Given the description of an element on the screen output the (x, y) to click on. 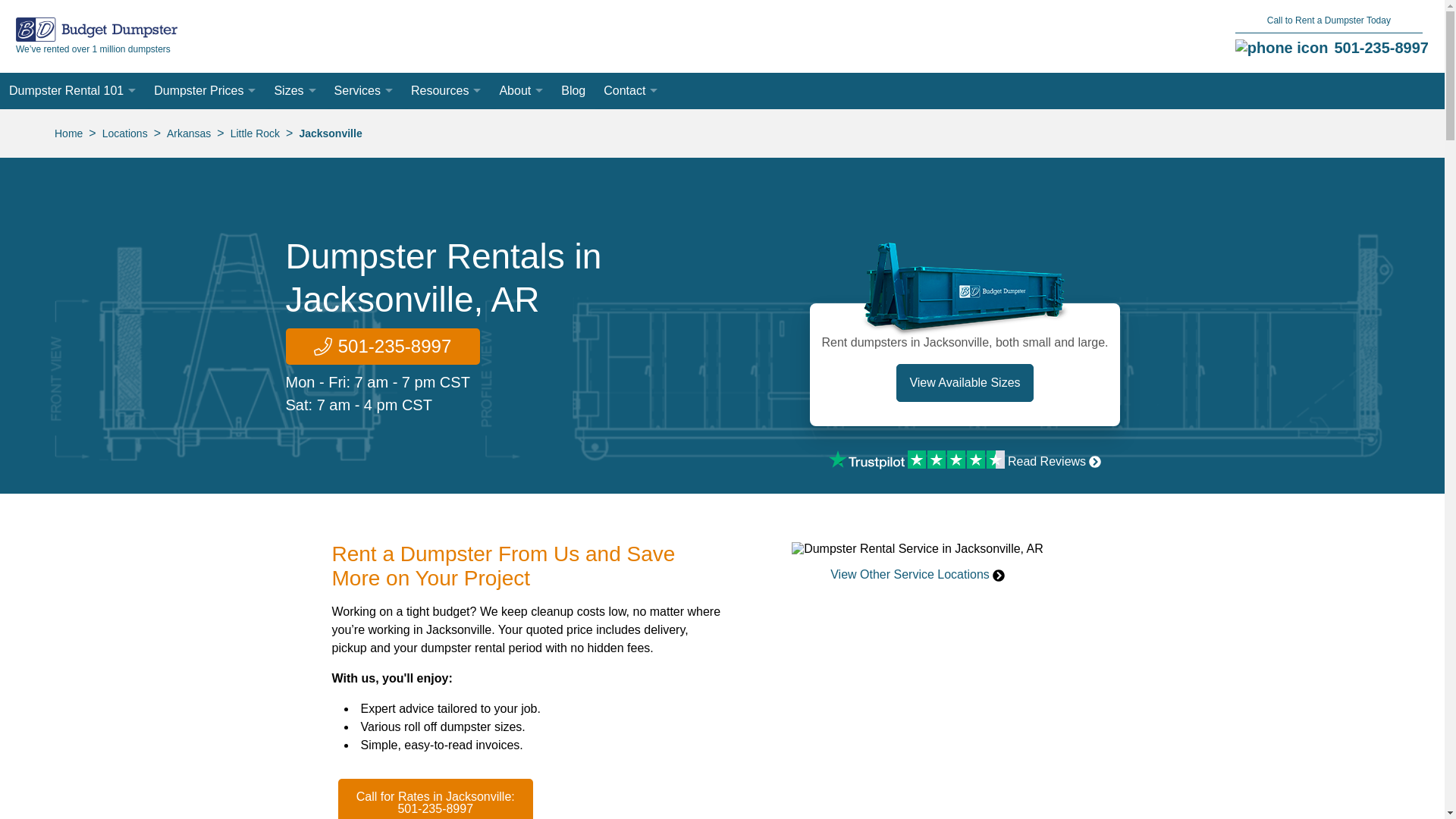
501-235-8997 (1380, 47)
